Given the description of an element on the screen output the (x, y) to click on. 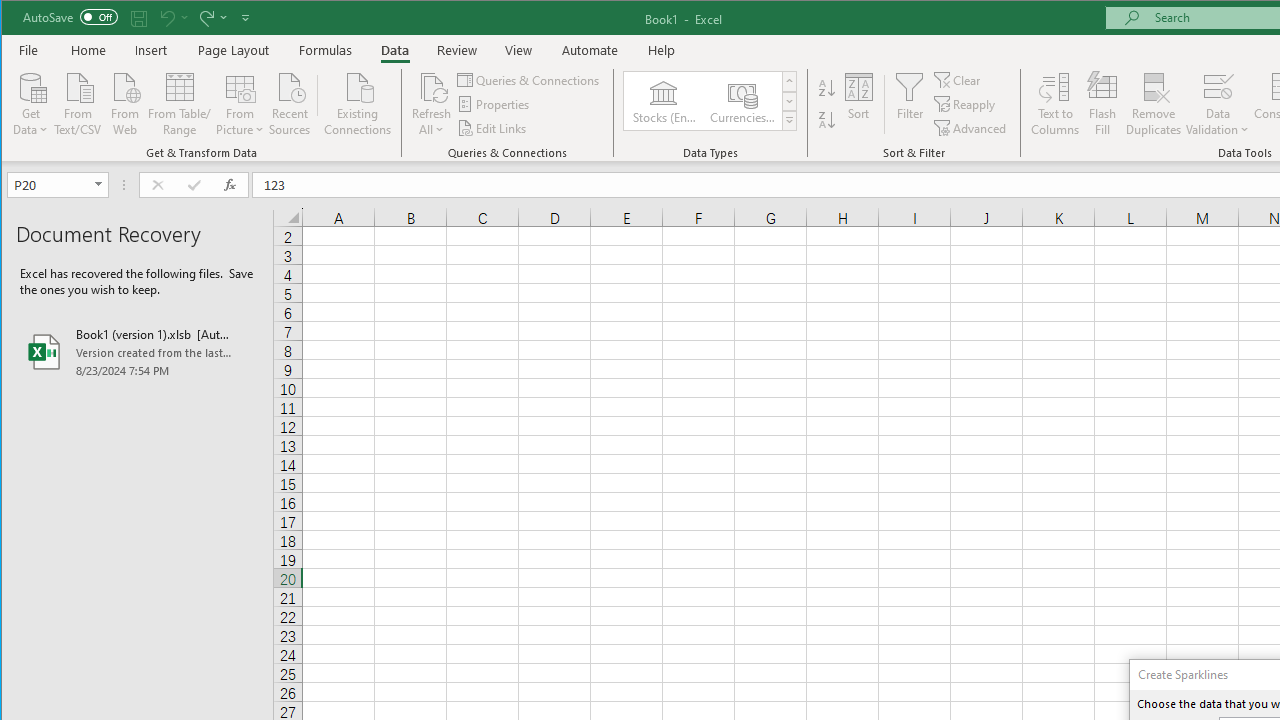
Refresh All (431, 104)
Formulas (326, 50)
Existing Connections (358, 101)
Help (661, 50)
Data (395, 50)
Edit Links (493, 127)
Get Data (31, 101)
Row Down (789, 101)
AutomationID: ConvertToLinkedEntity (711, 101)
Name Box (49, 184)
Queries & Connections (529, 80)
Open (99, 184)
Home (88, 50)
Page Layout (233, 50)
Data Types (789, 120)
